Given the description of an element on the screen output the (x, y) to click on. 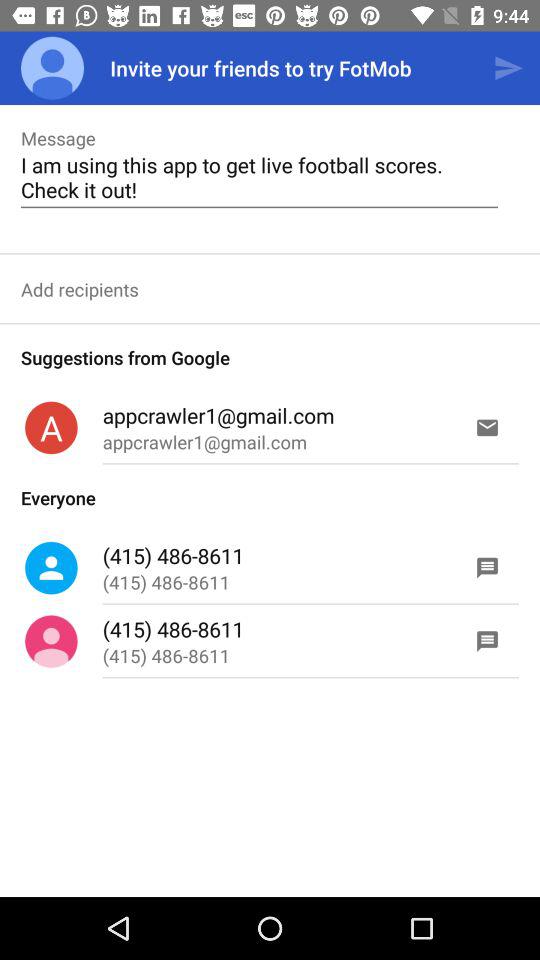
select item above the message item (52, 68)
